Given the description of an element on the screen output the (x, y) to click on. 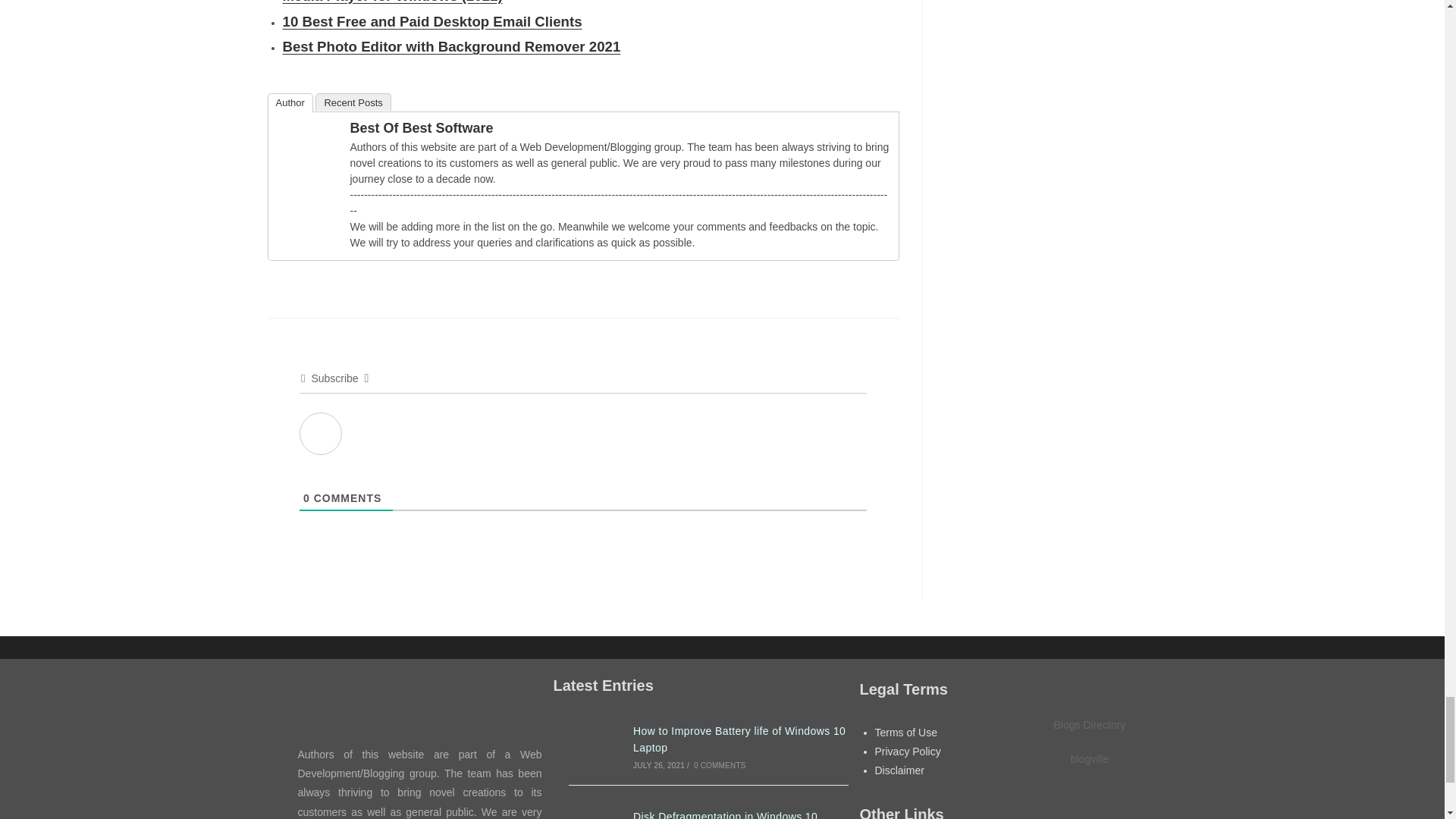
Best of Best Software (307, 130)
